Given the description of an element on the screen output the (x, y) to click on. 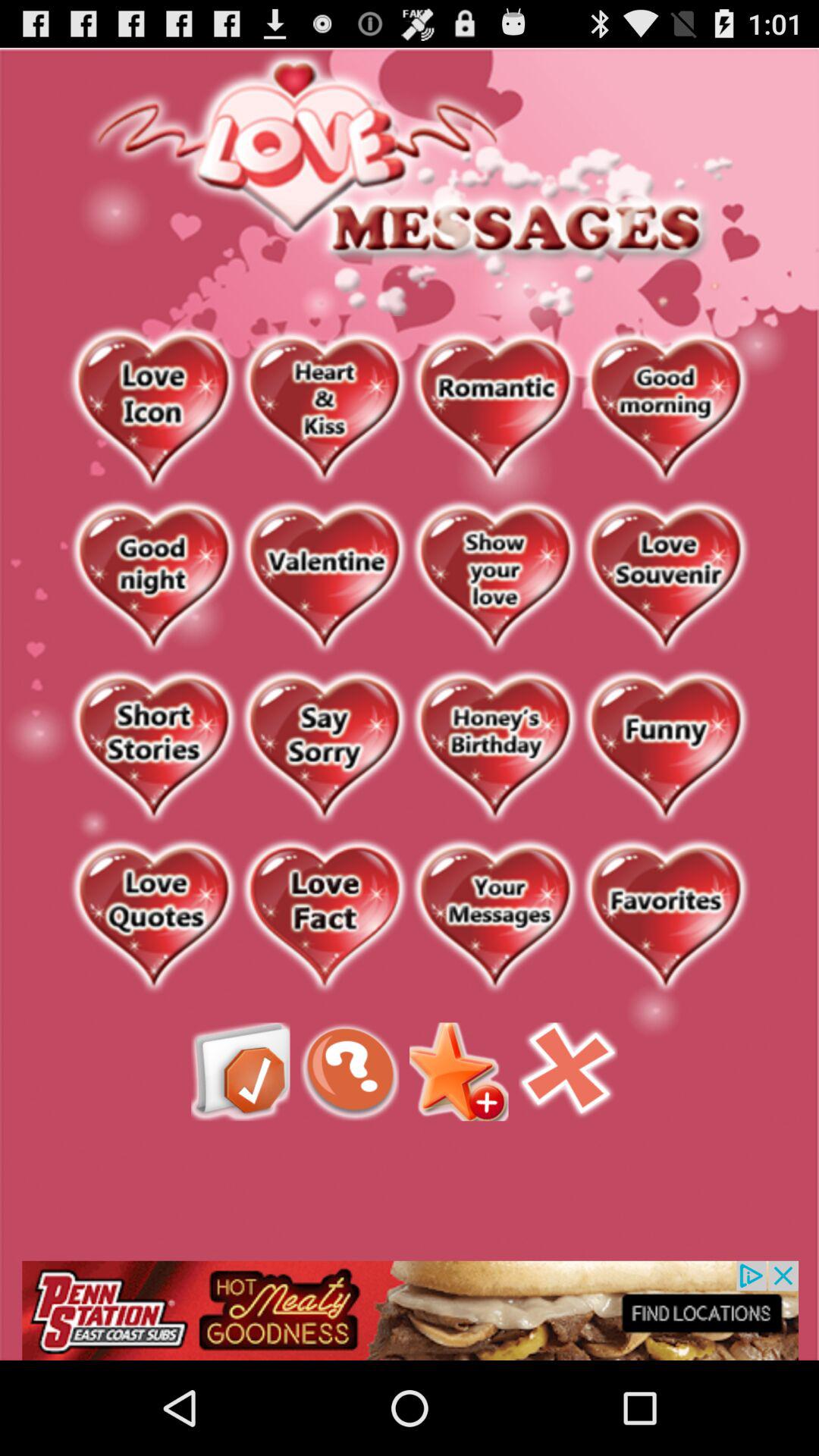
cancel the selected message (567, 1071)
